Given the description of an element on the screen output the (x, y) to click on. 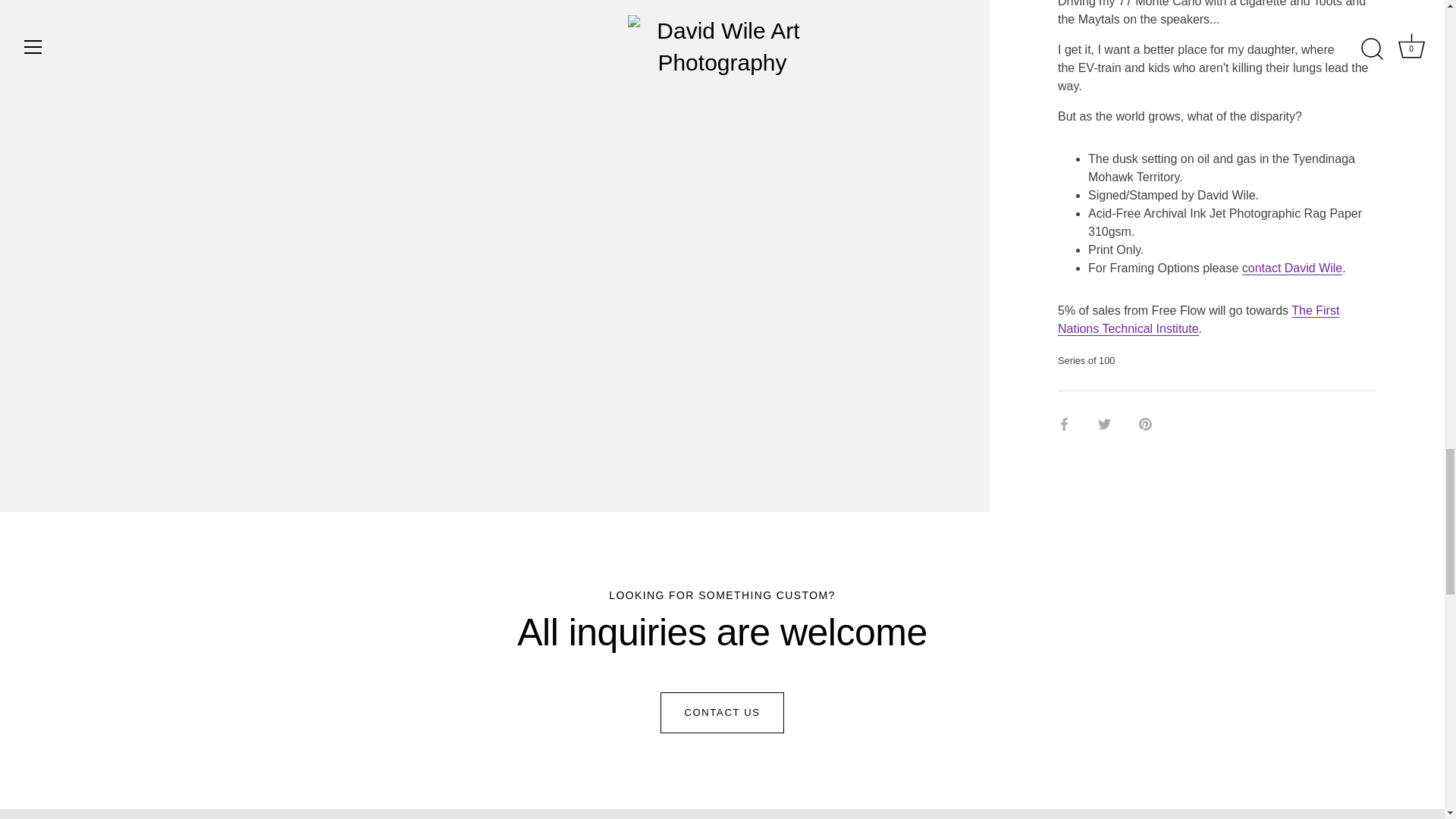
CONTACT US (722, 712)
